Given the description of an element on the screen output the (x, y) to click on. 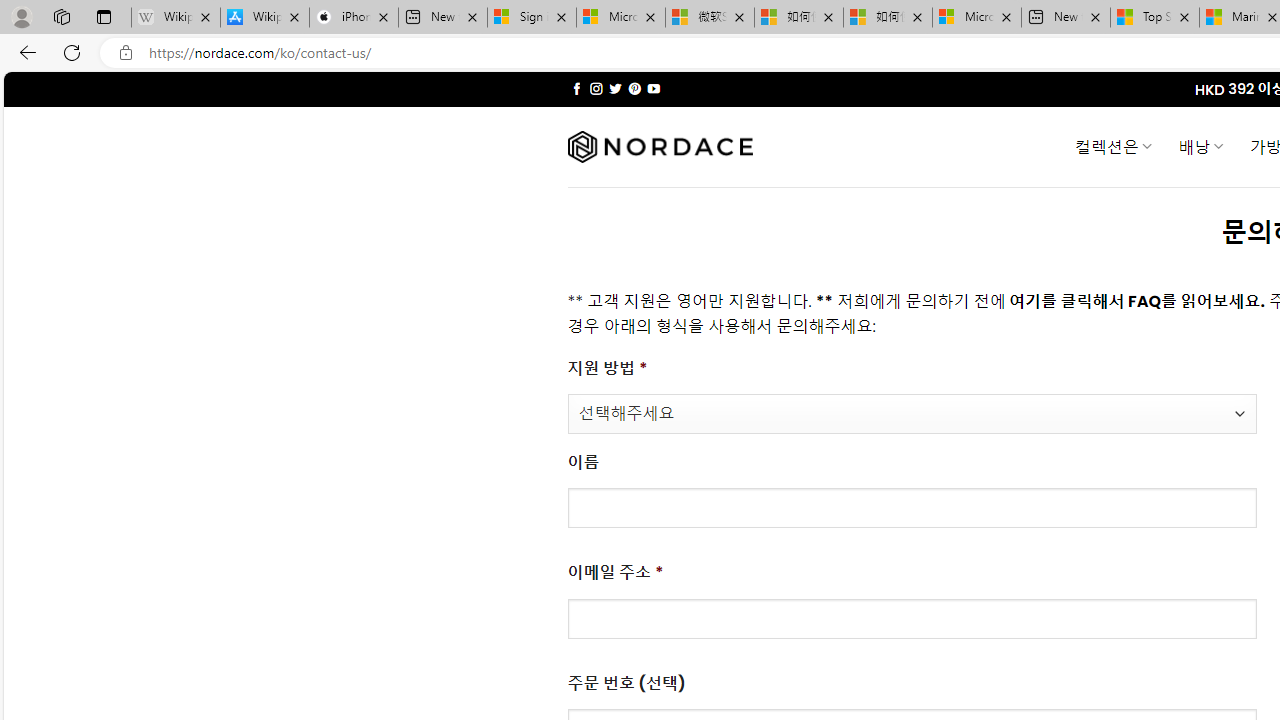
Follow on Instagram (596, 88)
Follow on Pinterest (634, 88)
